Given the description of an element on the screen output the (x, y) to click on. 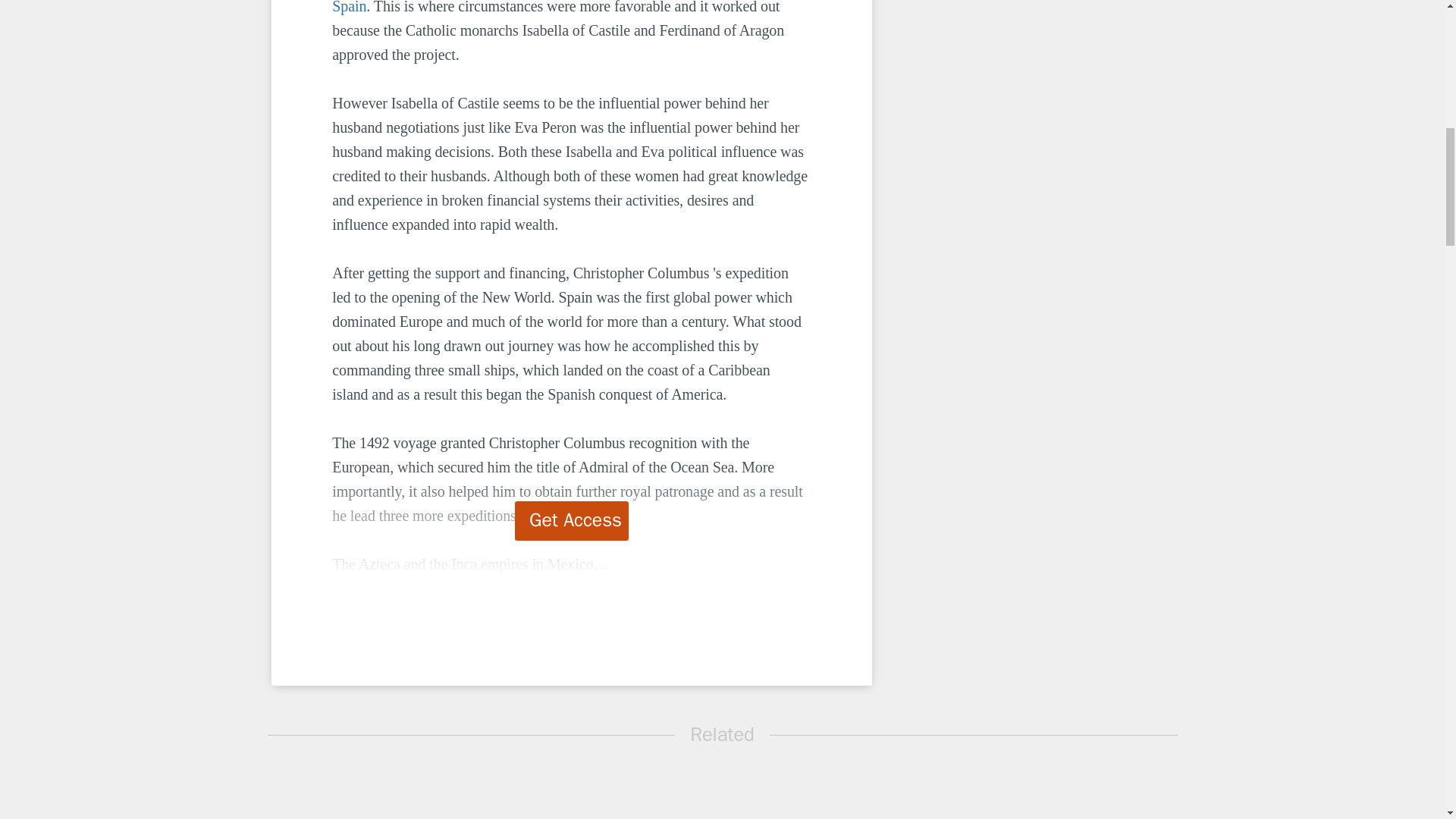
Get Access (571, 520)
Spain (348, 7)
